Given the description of an element on the screen output the (x, y) to click on. 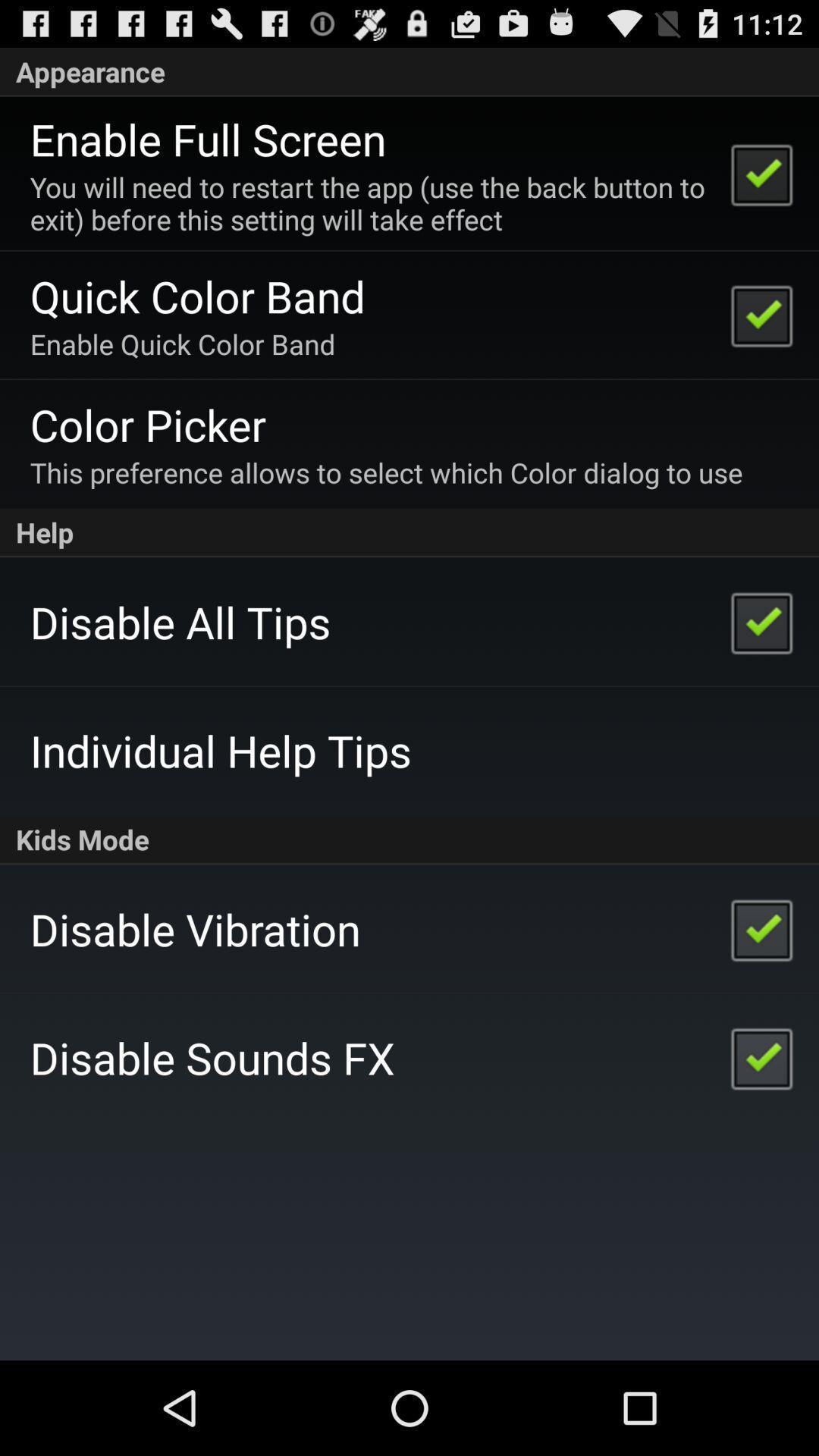
scroll to you will need (370, 203)
